Given the description of an element on the screen output the (x, y) to click on. 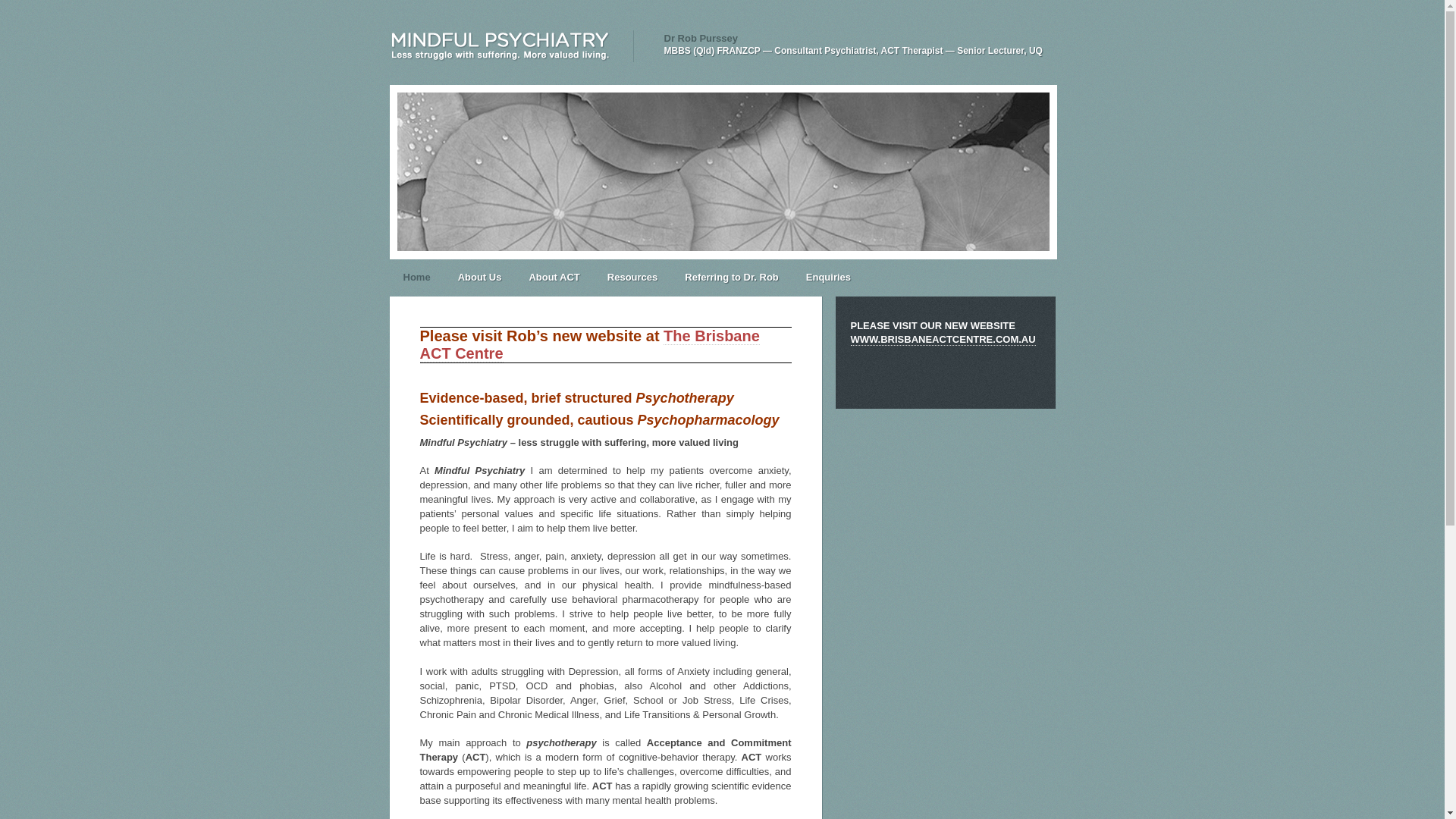
About ACT Element type: text (553, 277)
Referring to Dr. Rob Element type: text (731, 277)
About Us Element type: text (479, 277)
Home Element type: text (416, 277)
Enquiries Element type: text (828, 277)
Resources Element type: text (632, 277)
Mindful Psychiatry Element type: text (511, 46)
The Brisbane ACT Centre Element type: text (589, 344)
WWW.BRISBANEACTCENTRE.COM.AU Element type: text (942, 339)
